Given the description of an element on the screen output the (x, y) to click on. 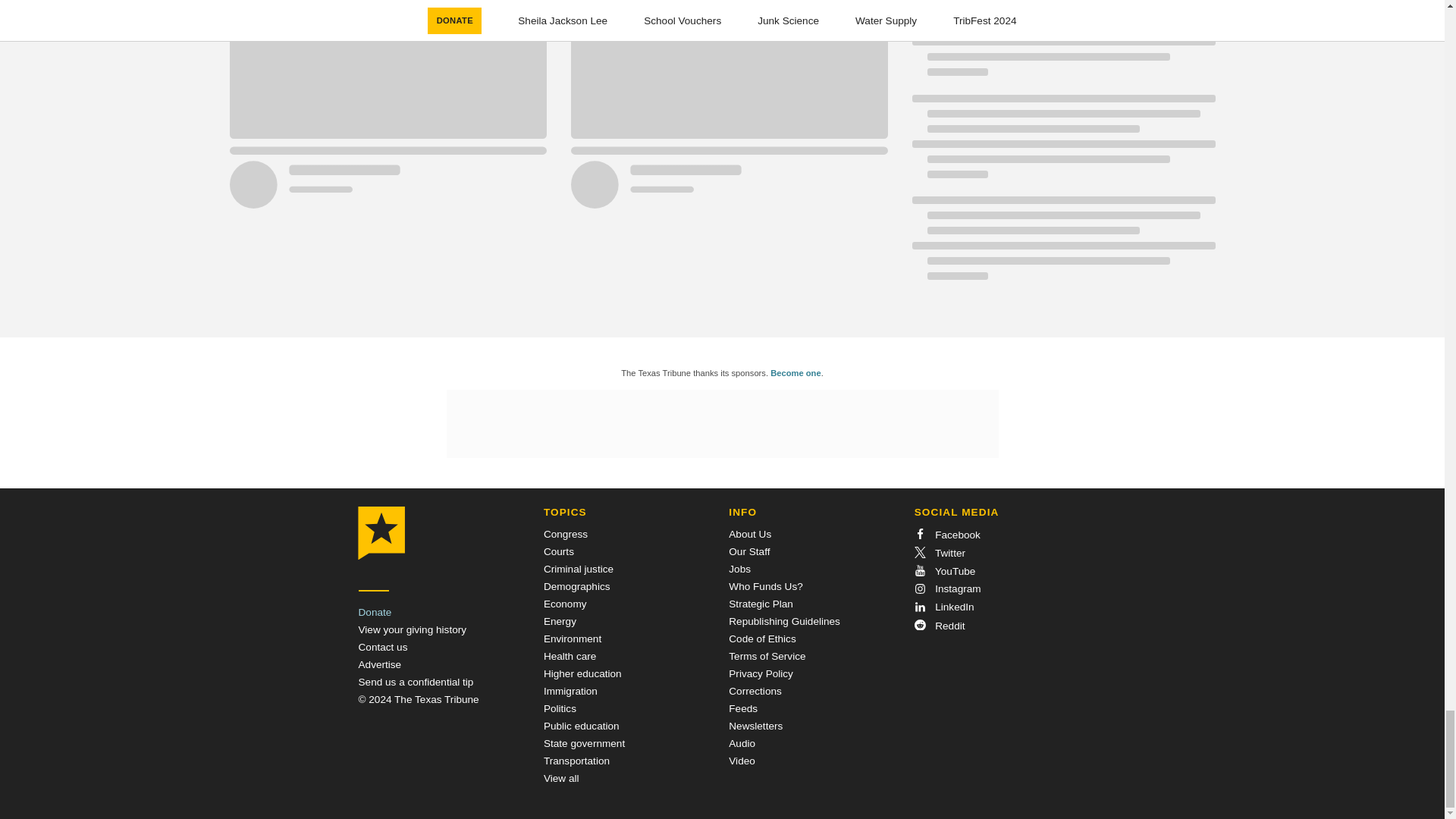
About Us (750, 533)
Video (742, 760)
Republishing Guidelines (784, 621)
Privacy Policy (761, 673)
View your giving history (411, 629)
Facebook (946, 534)
Advertise (379, 664)
Who Funds Us? (765, 586)
Newsletters (756, 726)
Feeds (743, 708)
